Given the description of an element on the screen output the (x, y) to click on. 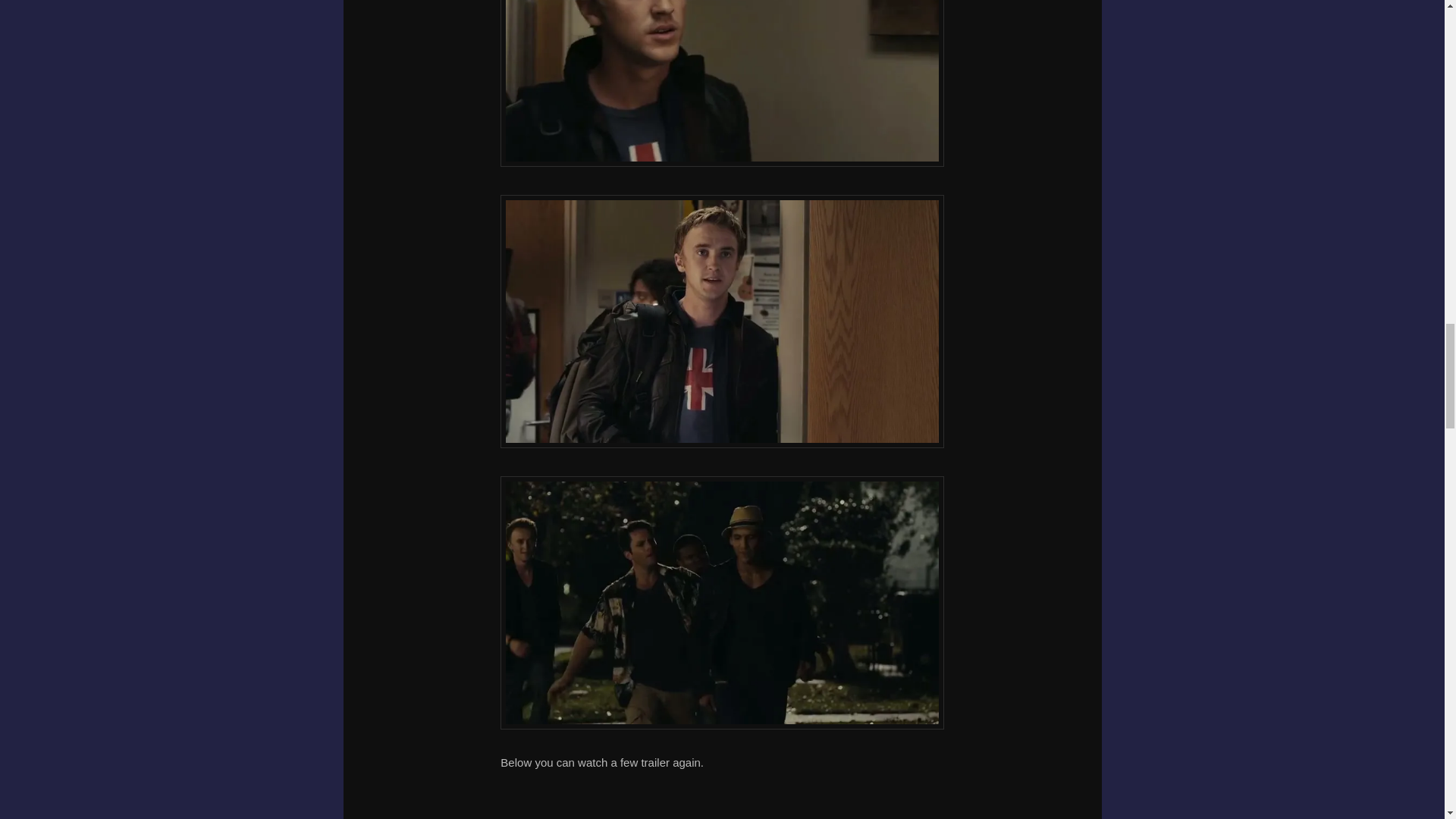
Tom - From the Rough 3 04 (721, 601)
Tom - From the Rough 1 39 (721, 320)
Tom - From the Rough 1 15 (721, 83)
